Given the description of an element on the screen output the (x, y) to click on. 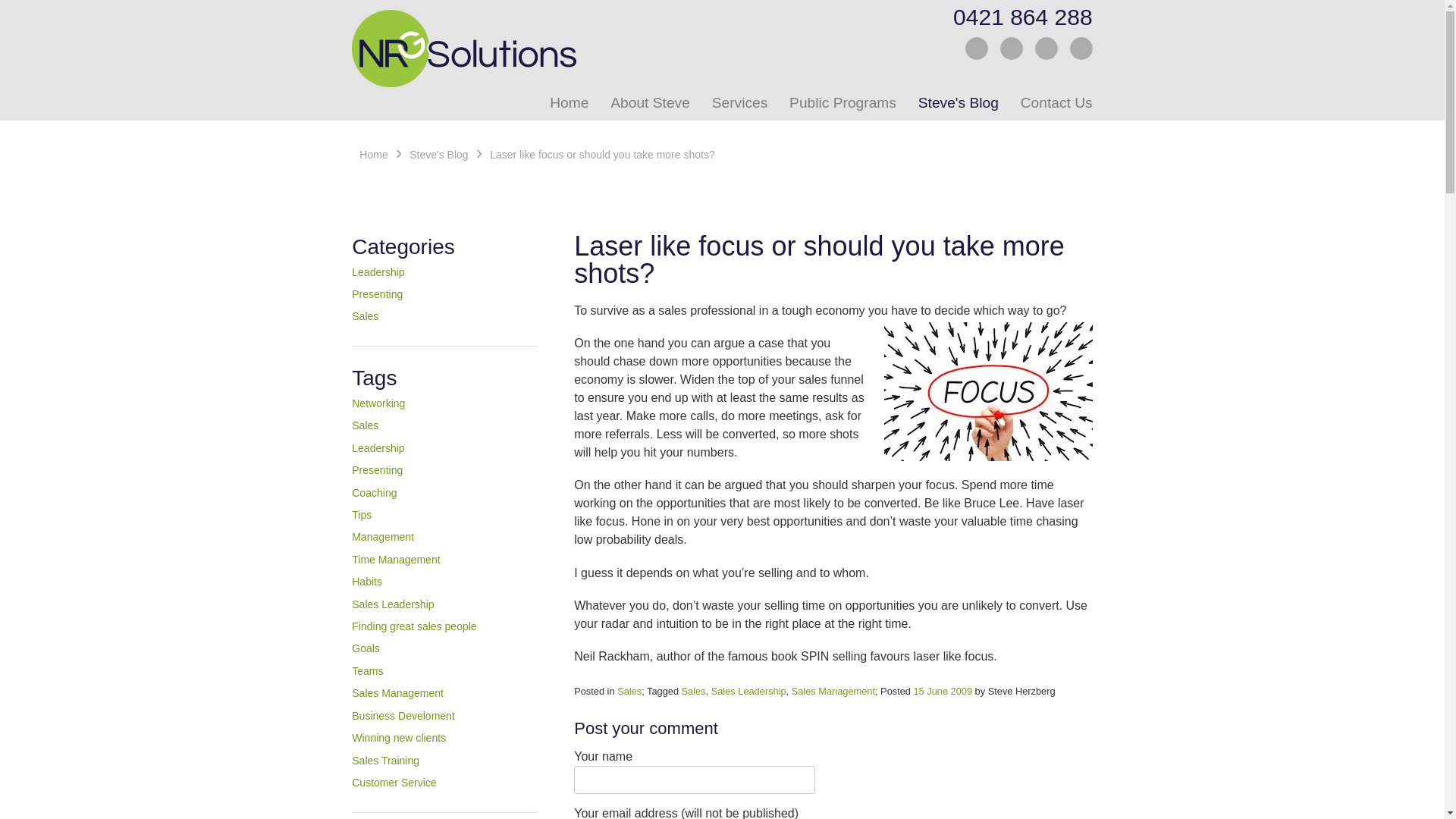
Sales Leadership Element type: text (748, 690)
Sales Leadership Element type: text (392, 604)
About Steve Element type: text (645, 103)
Steve's Blog Element type: text (952, 103)
Presenting Element type: text (376, 470)
Business Develoment Element type: text (403, 715)
Finding great sales people Element type: text (413, 626)
NRG Solutions on LinkedIn Element type: hover (1011, 48)
Steve's Blog Element type: text (438, 154)
Sales Training Element type: text (385, 760)
Habits Element type: text (366, 581)
Winning new clients Element type: text (398, 737)
Contact Us Element type: text (1051, 103)
Contact NRG Solutions Element type: hover (1046, 48)
Sales Element type: text (364, 316)
Goals Element type: text (365, 648)
Leadership Element type: text (377, 272)
Leadership Element type: text (377, 448)
Sales Element type: text (629, 690)
Management Element type: text (382, 536)
Sales Management Element type: text (833, 690)
Teams Element type: text (366, 671)
NRG Solutions on Twitter Element type: hover (976, 48)
Sales Element type: text (693, 690)
Sales Element type: text (364, 425)
Time Management Element type: text (395, 559)
15 June 2009 Element type: text (942, 690)
Services Element type: text (734, 103)
Customer Service Element type: text (393, 782)
Sales Management Element type: text (397, 693)
0421 864 288 Element type: text (1015, 17)
Home Element type: text (564, 103)
Home Element type: text (373, 154)
Public Programs Element type: text (837, 103)
Get your Free Introductory Offer Element type: hover (1081, 48)
Coaching Element type: text (373, 492)
Tips Element type: text (361, 514)
Networking Element type: text (377, 403)
Presenting Element type: text (376, 294)
